Given the description of an element on the screen output the (x, y) to click on. 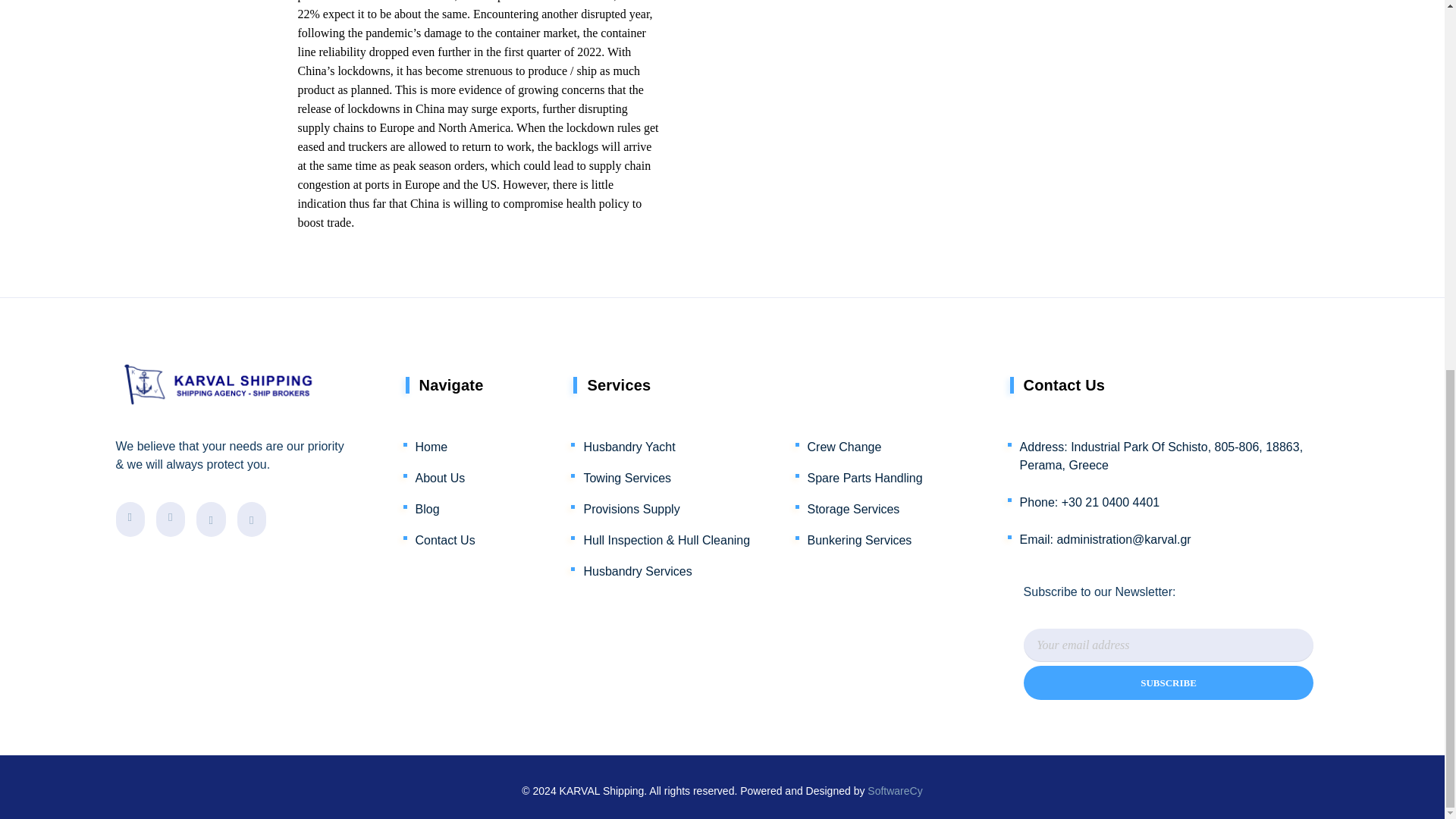
Subscribe (1168, 682)
About Us (441, 475)
Contact Us (446, 536)
